Given the description of an element on the screen output the (x, y) to click on. 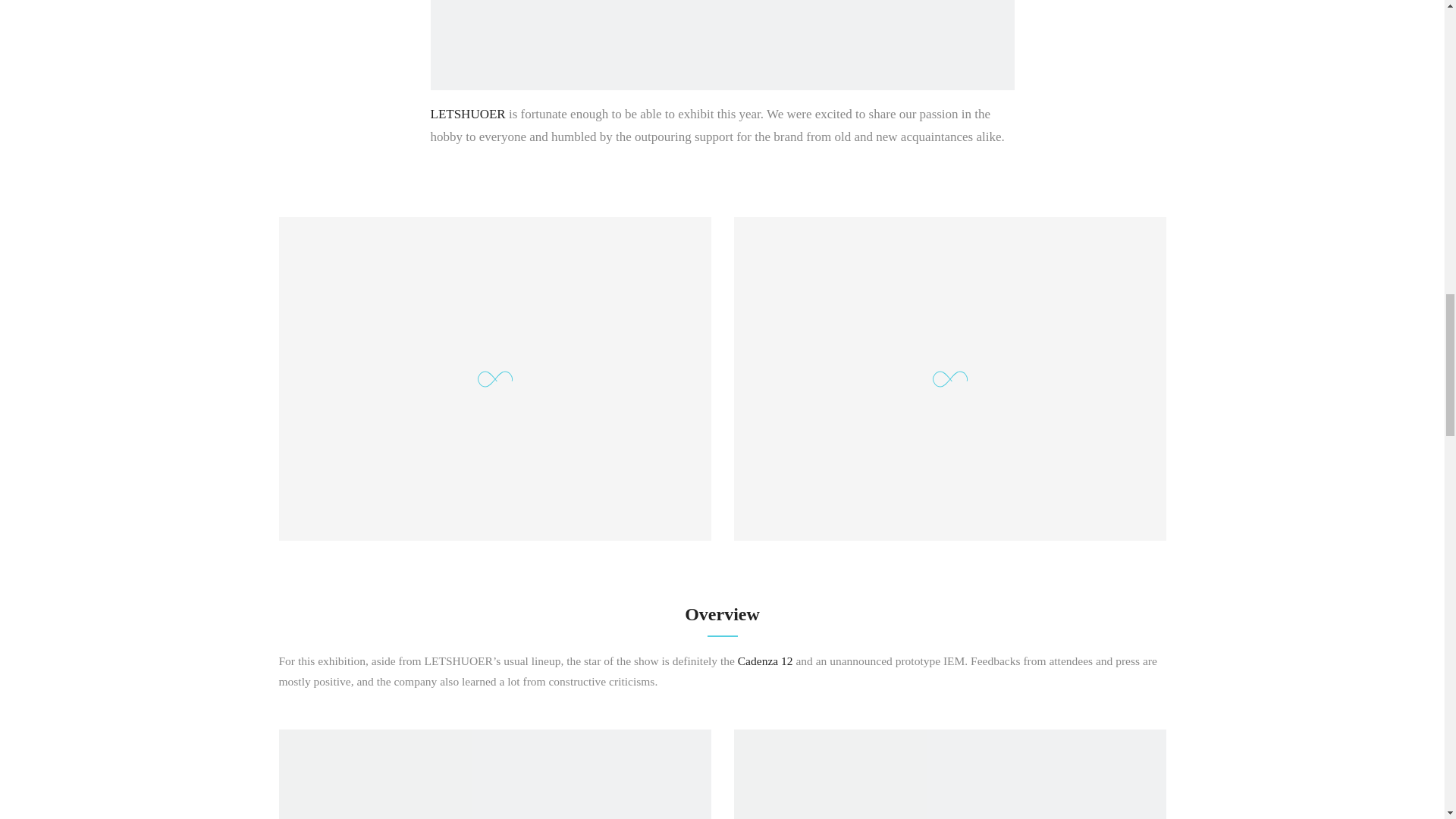
LETSHUOER (467, 114)
LETSHUOER Home Page (467, 114)
